Given the description of an element on the screen output the (x, y) to click on. 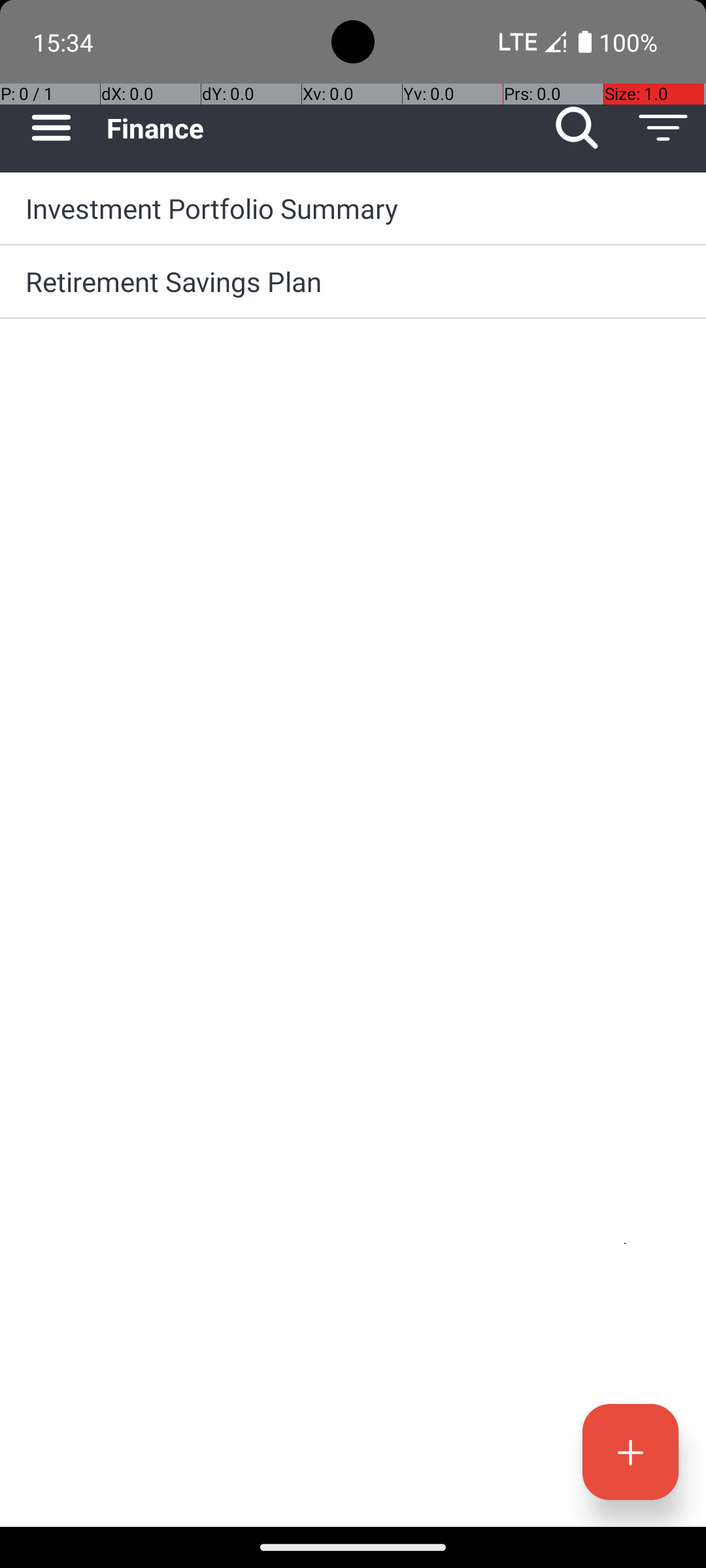
Investment Portfolio Summary Element type: android.widget.TextView (352, 207)
